Given the description of an element on the screen output the (x, y) to click on. 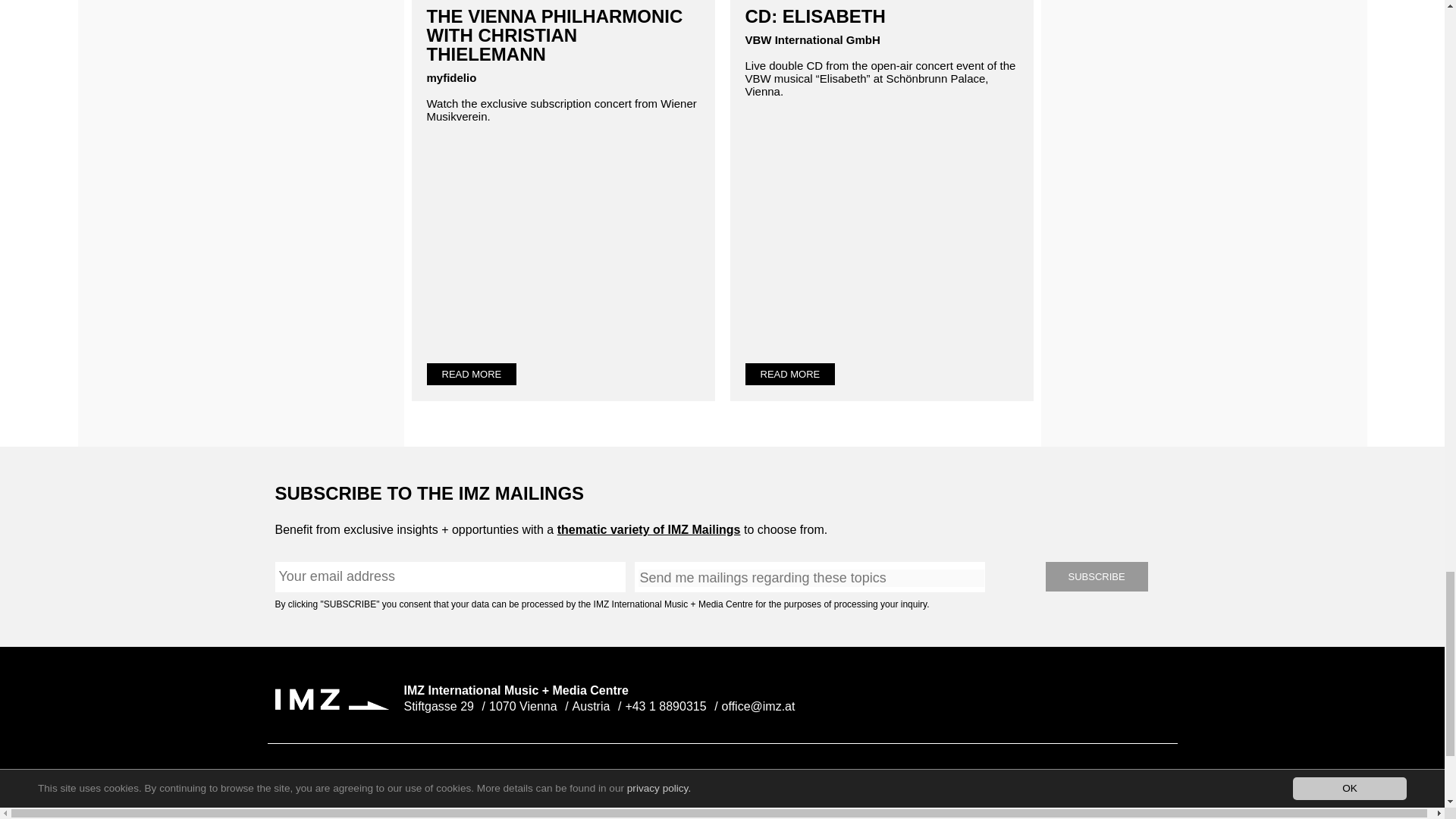
READ MORE (789, 373)
READ MORE (471, 373)
SUBSCRIBE (1096, 576)
SUBSCRIBE (1096, 576)
thematic variety of IMZ Mailings (649, 529)
